Given the description of an element on the screen output the (x, y) to click on. 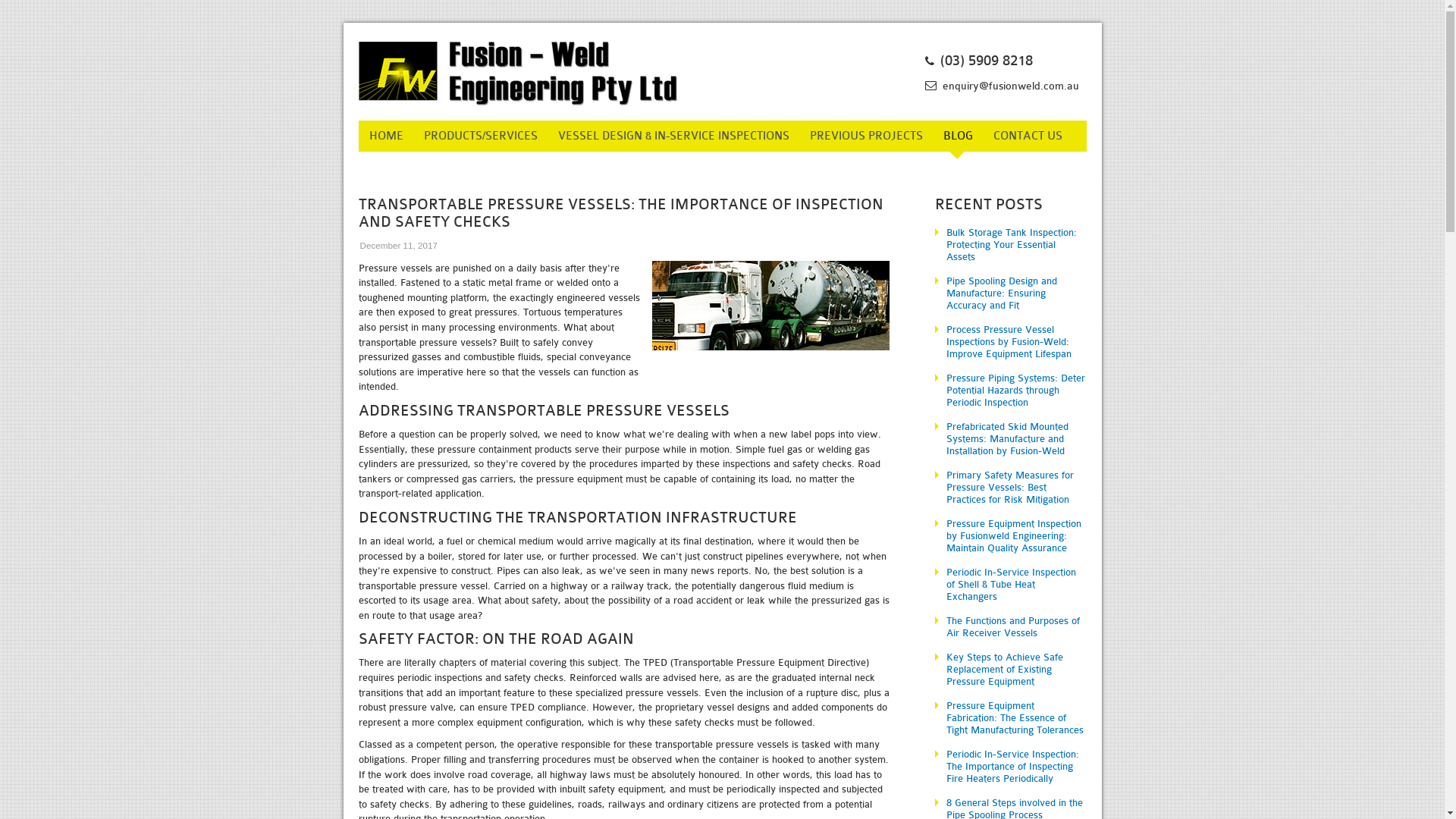
PRODUCTS/SERVICES Element type: text (480, 135)
HOME Element type: text (385, 135)
CONTACT US Element type: text (1027, 135)
The Functions and Purposes of Air Receiver Vessels Element type: text (1009, 626)
PREVIOUS PROJECTS Element type: text (865, 135)
BLOG Element type: text (958, 135)
VESSEL DESIGN & IN-SERVICE INSPECTIONS Element type: text (673, 135)
